Given the description of an element on the screen output the (x, y) to click on. 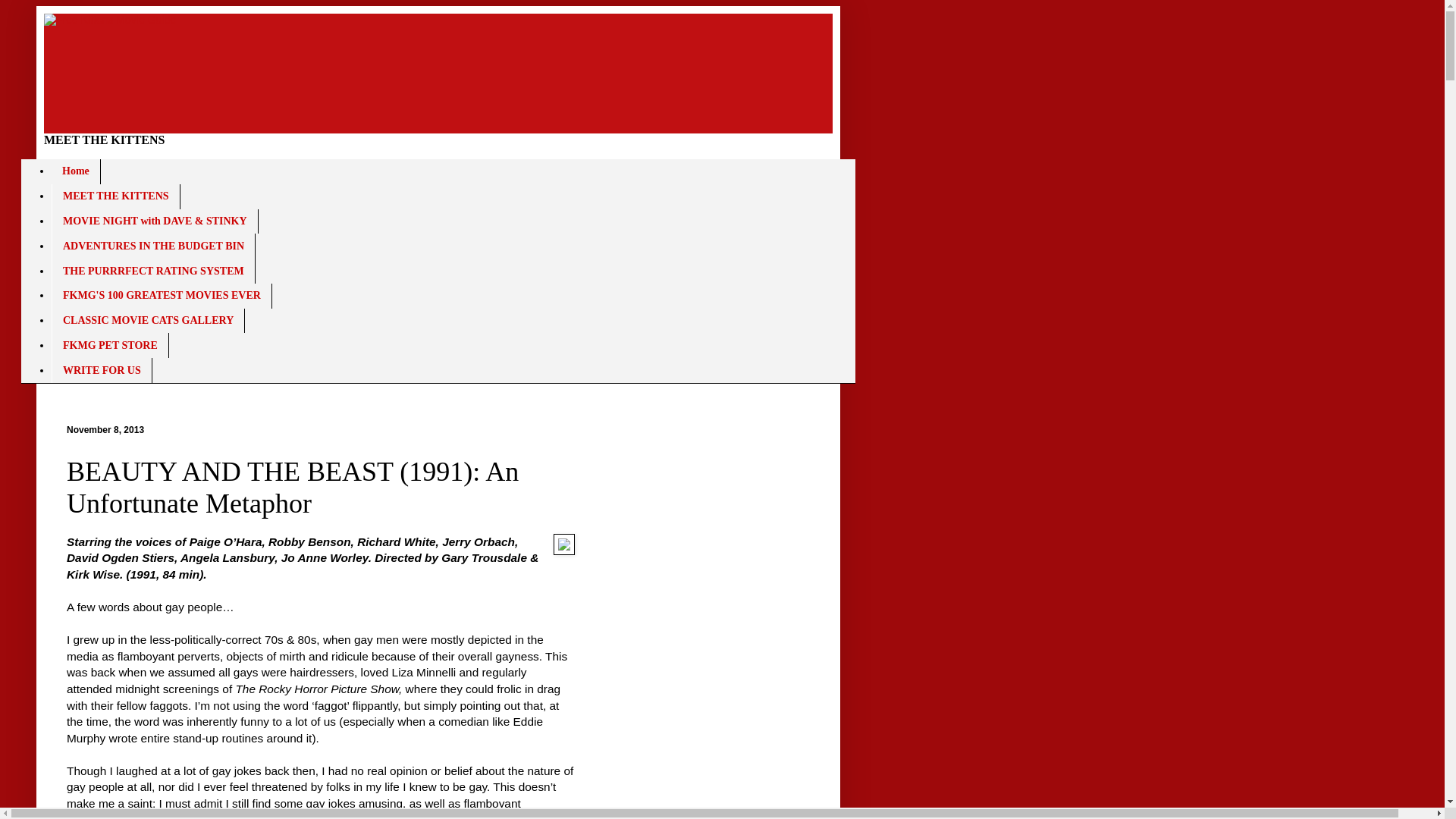
WRITE FOR US (101, 370)
FKMG PET STORE (109, 344)
MEET THE KITTENS (115, 196)
CLASSIC MOVIE CATS GALLERY (147, 320)
ADVENTURES IN THE BUDGET BIN (153, 245)
Home (75, 171)
THE PURRRFECT RATING SYSTEM (153, 270)
FKMG'S 100 GREATEST MOVIES EVER (161, 295)
